Given the description of an element on the screen output the (x, y) to click on. 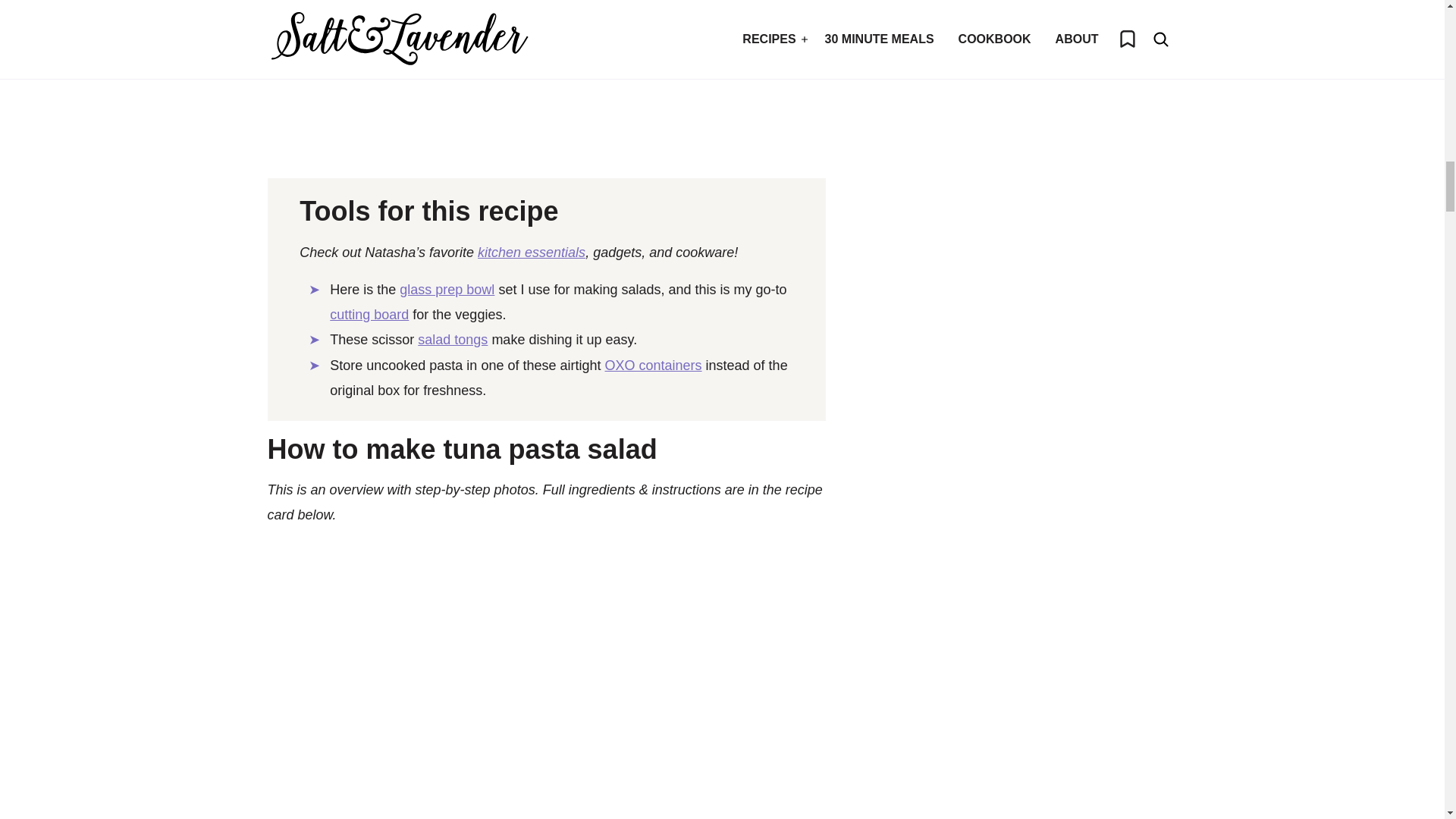
kitchen essentials (531, 252)
cutting board (369, 314)
glass prep bowl (446, 289)
